Given the description of an element on the screen output the (x, y) to click on. 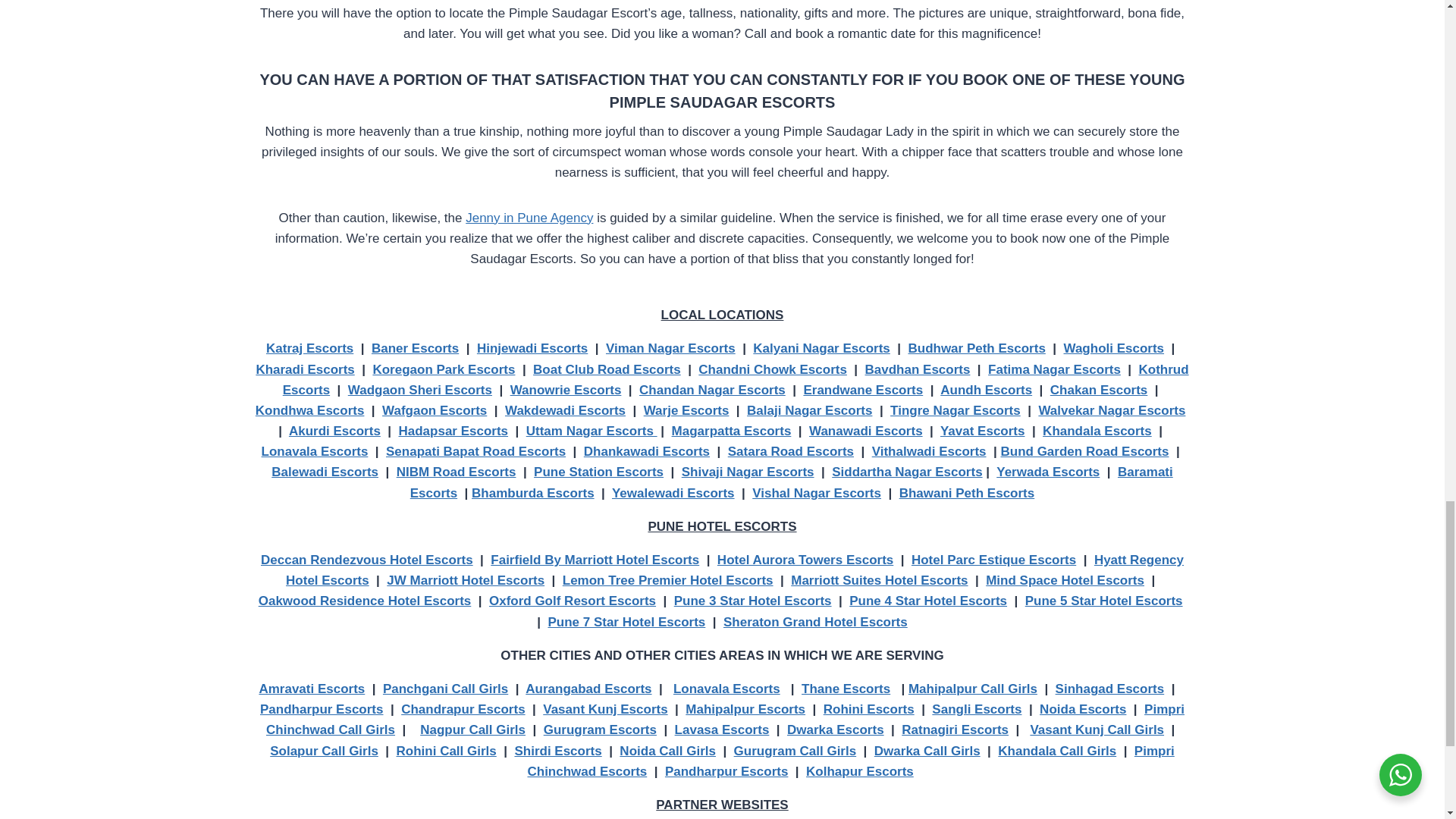
Erandwane Escorts (863, 390)
Akurdi Escorts (334, 431)
Koregaon Park Escorts (443, 369)
Budhwar Peth Escorts (976, 348)
Bavdhan Escorts (917, 369)
Hinjewadi Escorts (532, 348)
Kalyani Nagar Escorts (820, 348)
Boat Club Road Escorts (606, 369)
Fatima Nagar Escorts (1054, 369)
Walvekar Nagar Escorts (1111, 410)
